Given the description of an element on the screen output the (x, y) to click on. 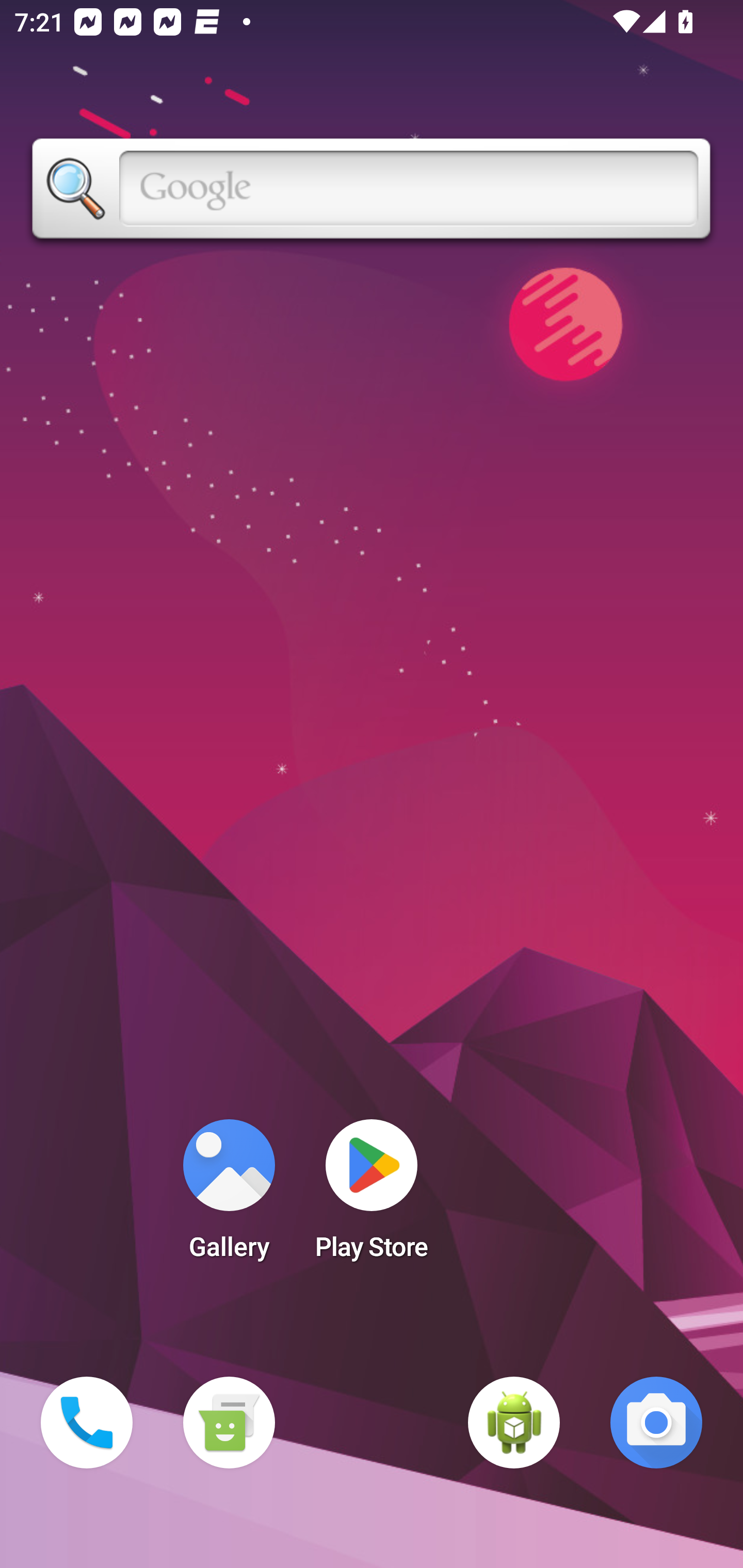
Gallery (228, 1195)
Play Store (371, 1195)
Phone (86, 1422)
Messaging (228, 1422)
WebView Browser Tester (513, 1422)
Camera (656, 1422)
